Given the description of an element on the screen output the (x, y) to click on. 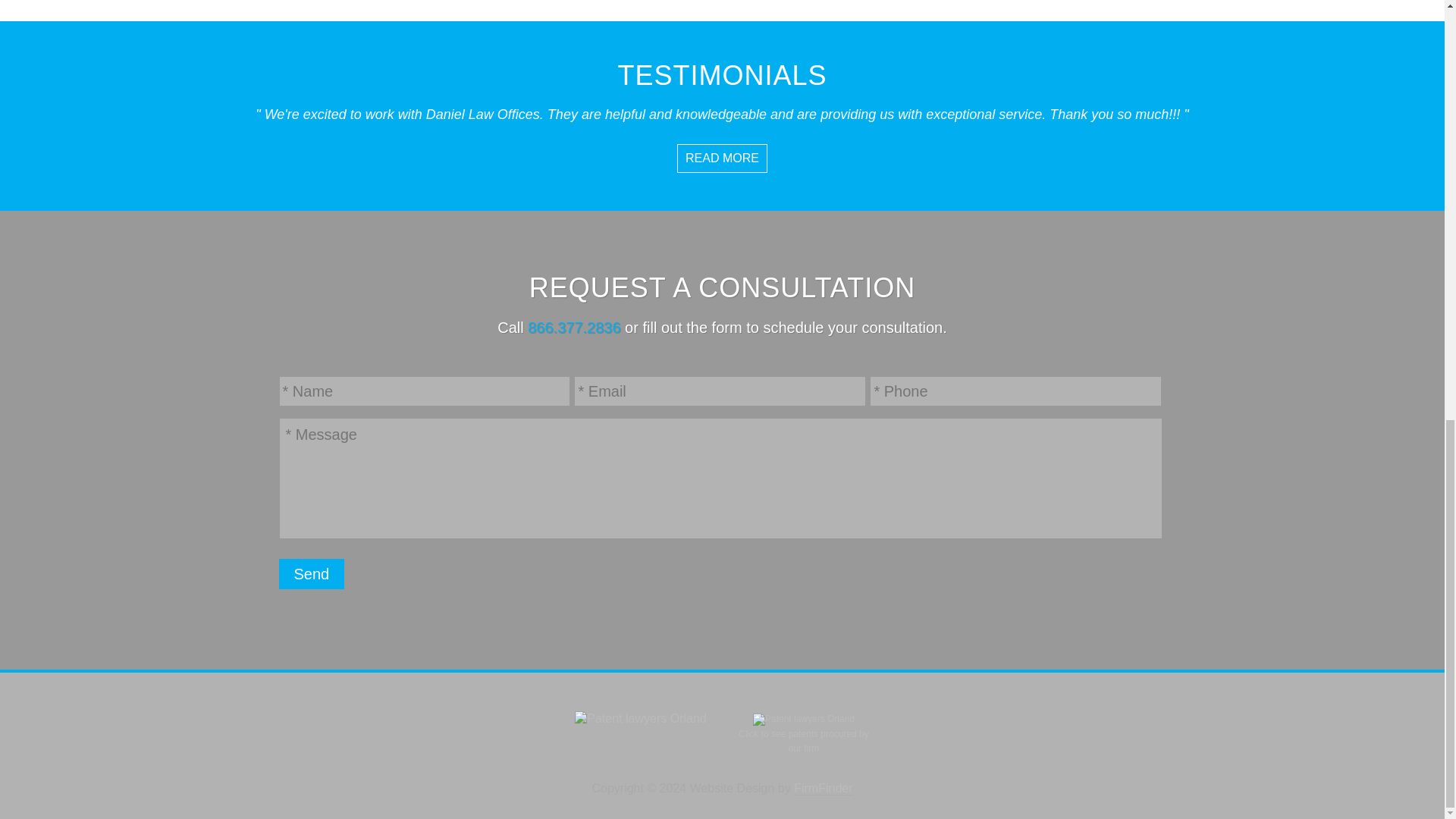
READ MORE (722, 158)
866.377.2836 (573, 327)
Send (312, 573)
